Given the description of an element on the screen output the (x, y) to click on. 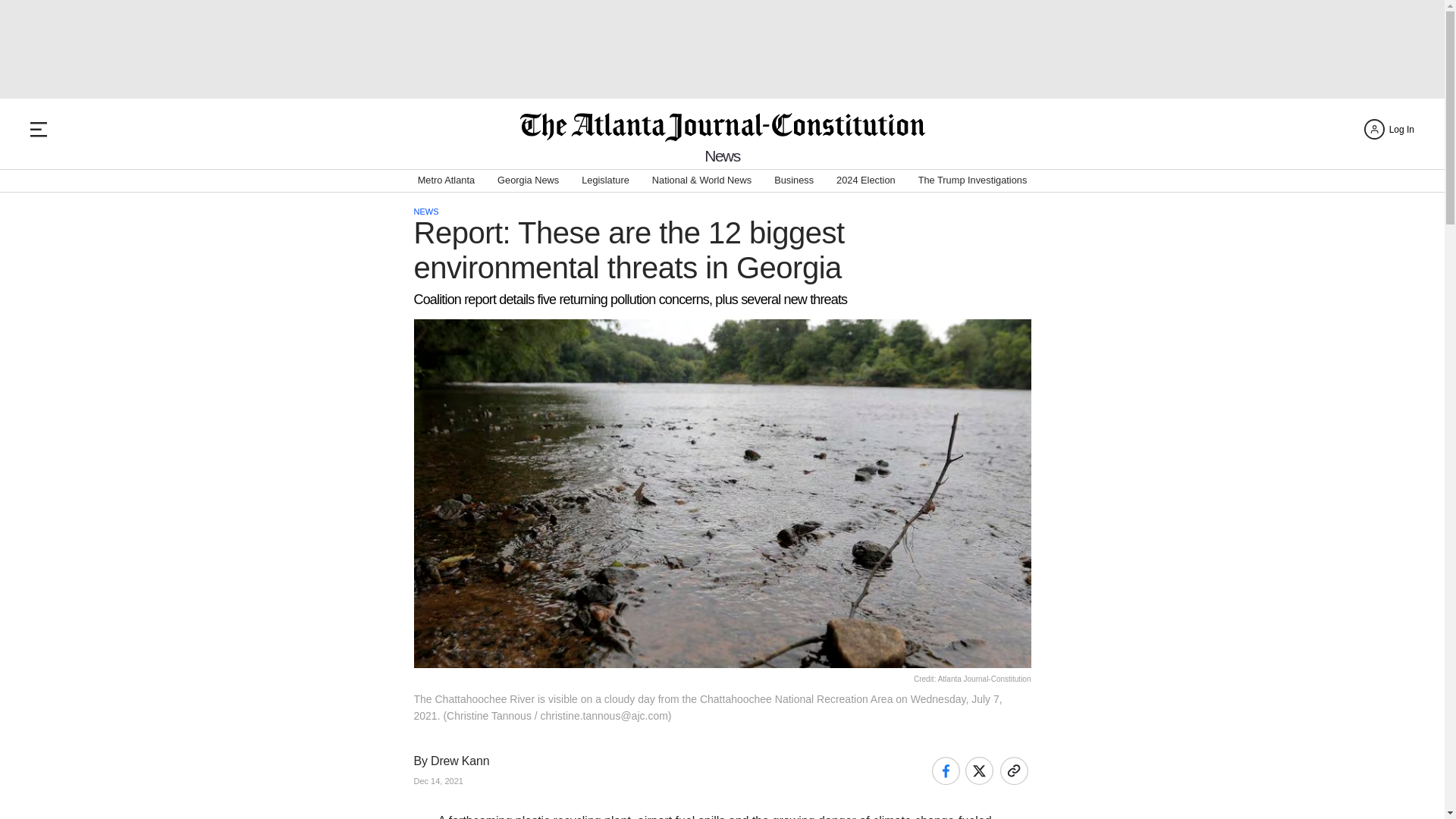
Legislature (604, 180)
The Trump Investigations (972, 180)
News (721, 155)
Metro Atlanta (445, 180)
Business (793, 180)
2024 Election (865, 180)
Georgia News (528, 180)
